Given the description of an element on the screen output the (x, y) to click on. 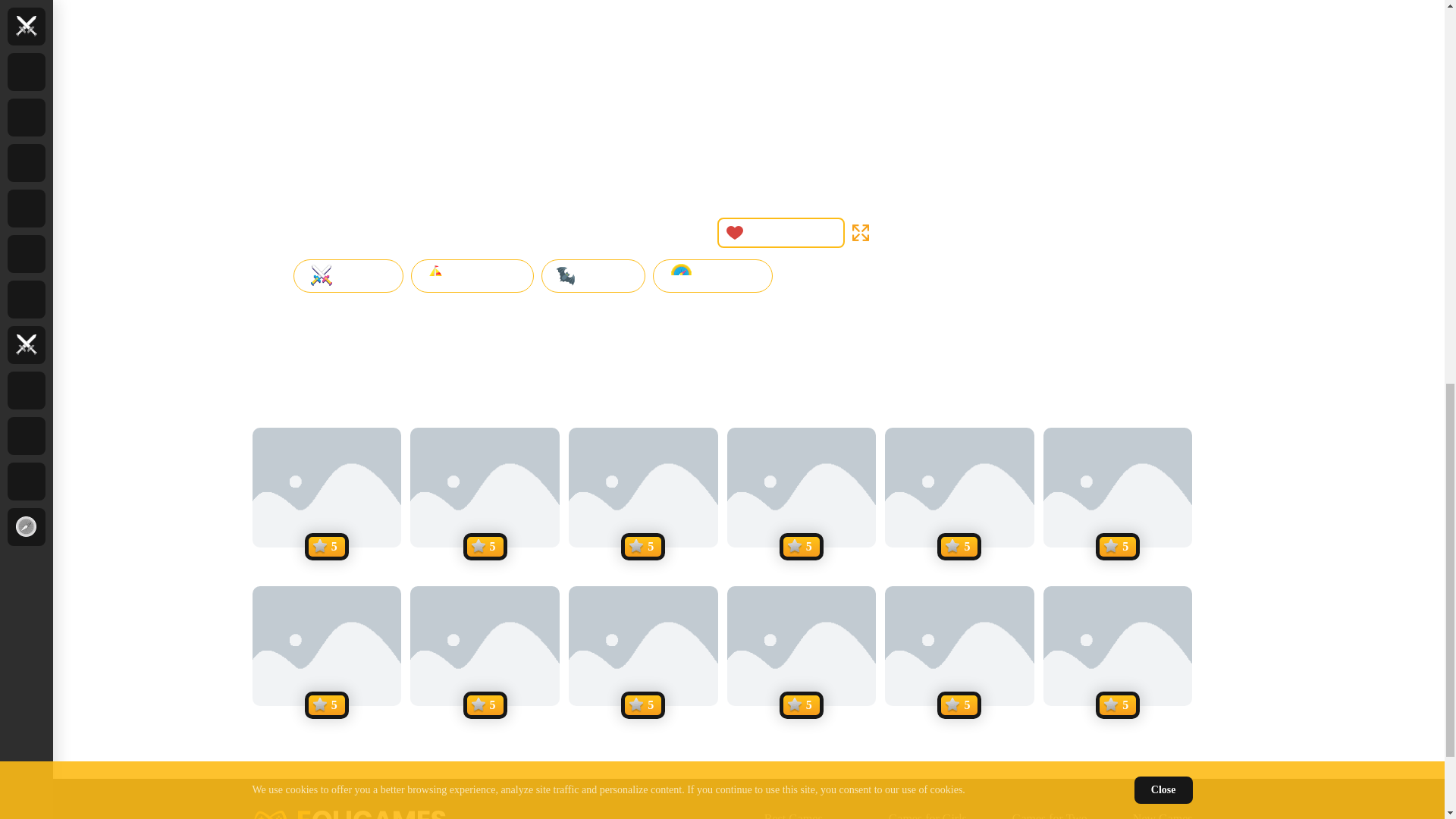
Action (347, 275)
Adventure (472, 275)
Add to my games (780, 232)
Horror (593, 275)
Survival (712, 275)
